Given the description of an element on the screen output the (x, y) to click on. 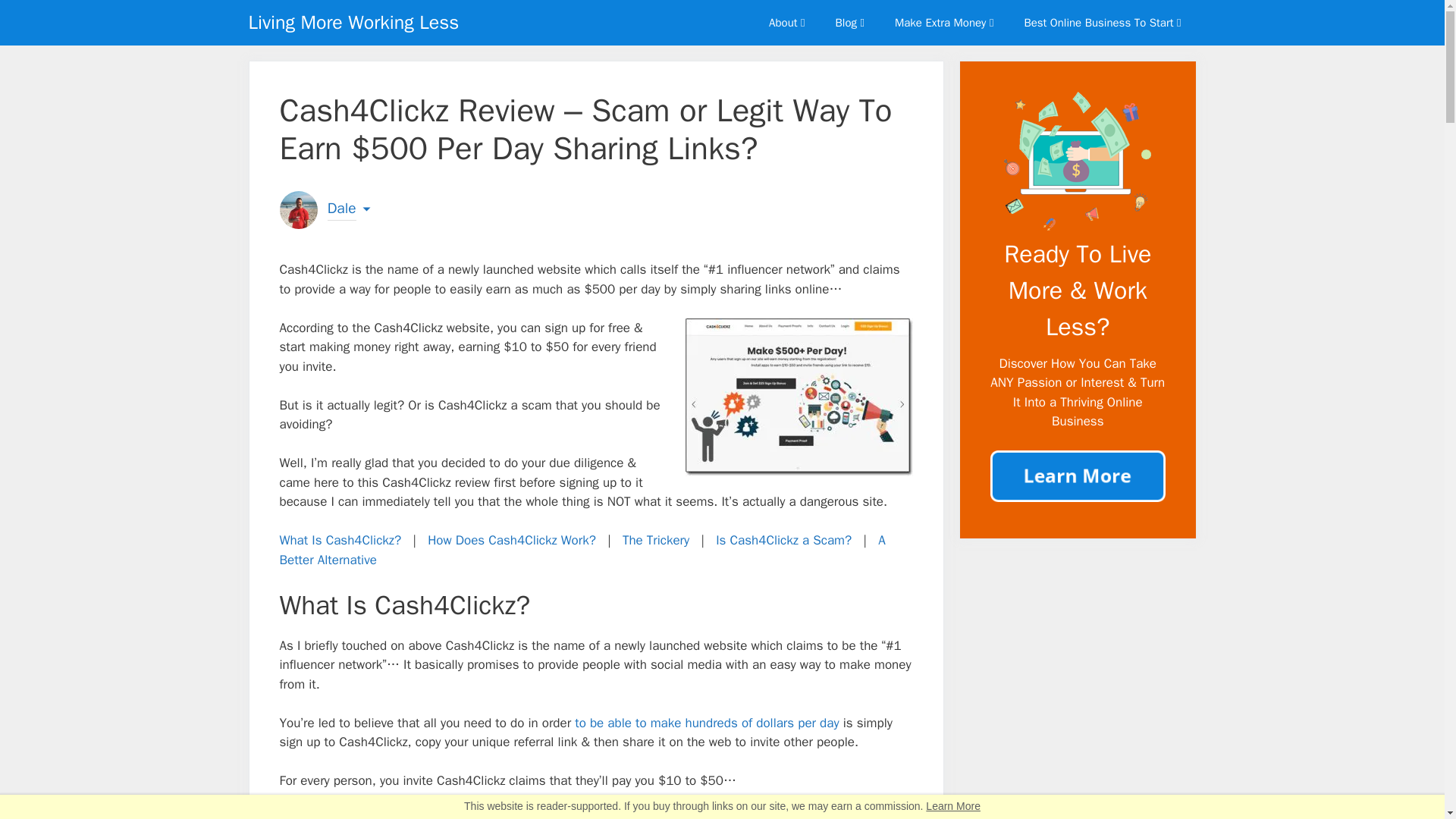
The Trickery (655, 539)
Is Cash4Clickz a Scam? (783, 539)
Living More Working Less (354, 22)
A Better Alternative (582, 550)
How Does Cash4Clickz Work? (511, 539)
What Is Cash4Clickz? (340, 539)
to be able to make hundreds of dollars per day (704, 722)
